Given the description of an element on the screen output the (x, y) to click on. 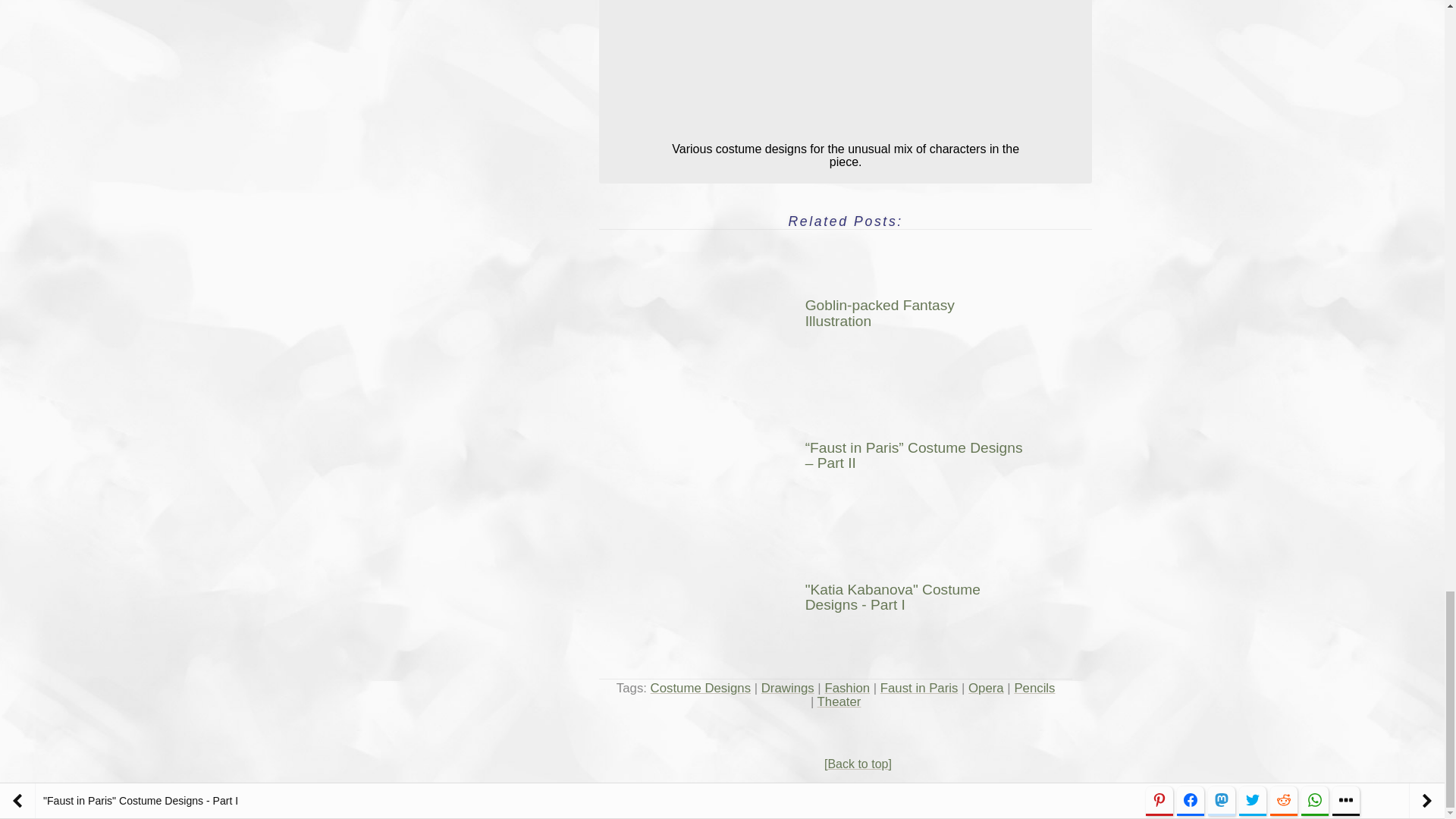
"Katia Kabanova" Costume Designs - Part I (851, 597)
Opera (986, 687)
Pencils (1033, 687)
"Katia Kabanova" Costume Designs - Part I (736, 590)
Fashion (846, 687)
Goblin-packed Fantasy Illustration (736, 306)
Faust in Paris (919, 687)
Goblin-packed Fantasy Illustration (851, 313)
Costume Designs (700, 687)
Faust in Paris - Various Male costume designs (844, 65)
Drawings (787, 687)
Theater (838, 701)
